Given the description of an element on the screen output the (x, y) to click on. 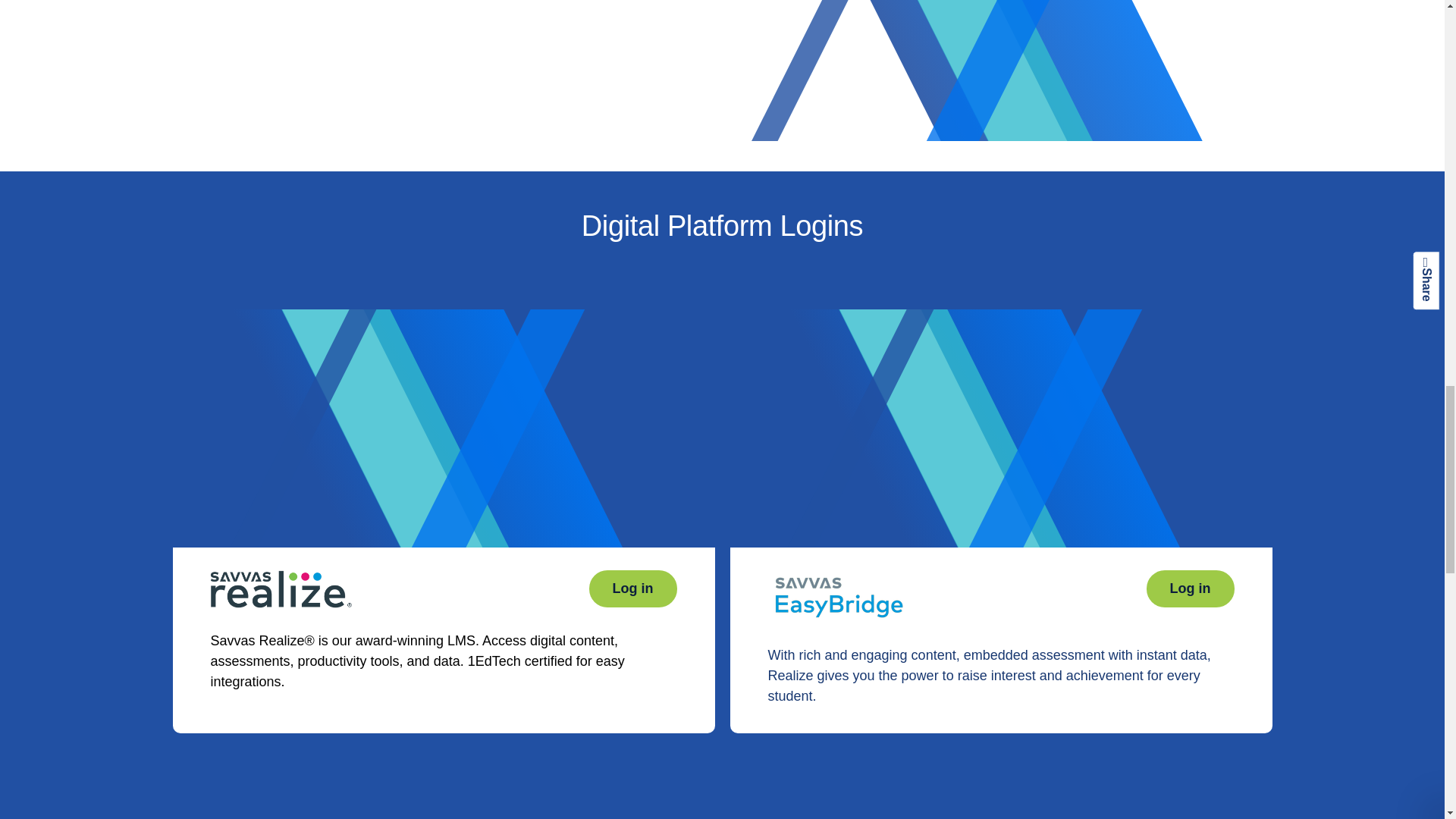
Log in (633, 588)
Log in (1190, 588)
